Given the description of an element on the screen output the (x, y) to click on. 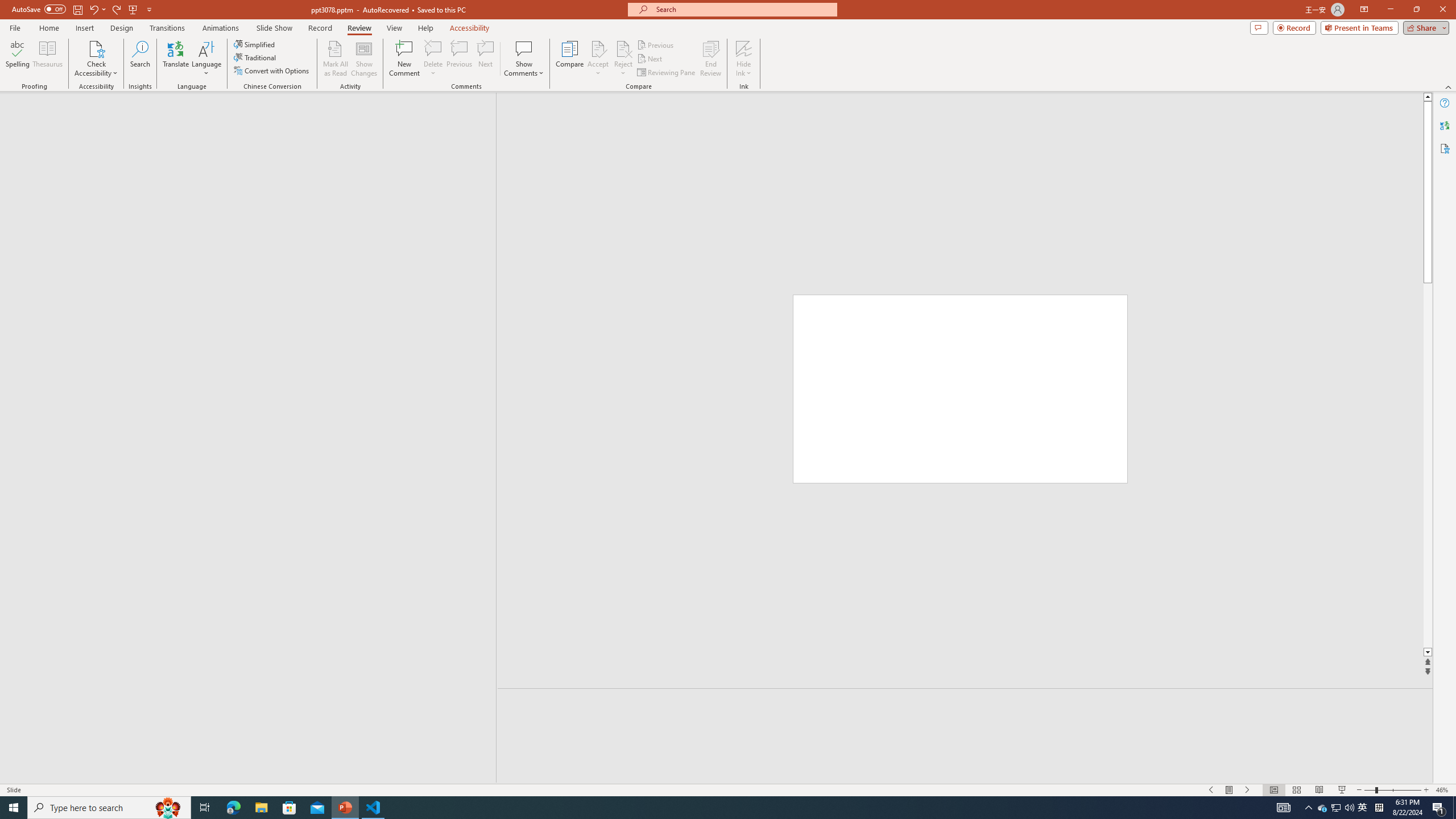
Language (206, 58)
Menu On (1229, 790)
Traditional (255, 56)
Check Accessibility (95, 58)
Delete (432, 48)
Outline (252, 114)
